Given the description of an element on the screen output the (x, y) to click on. 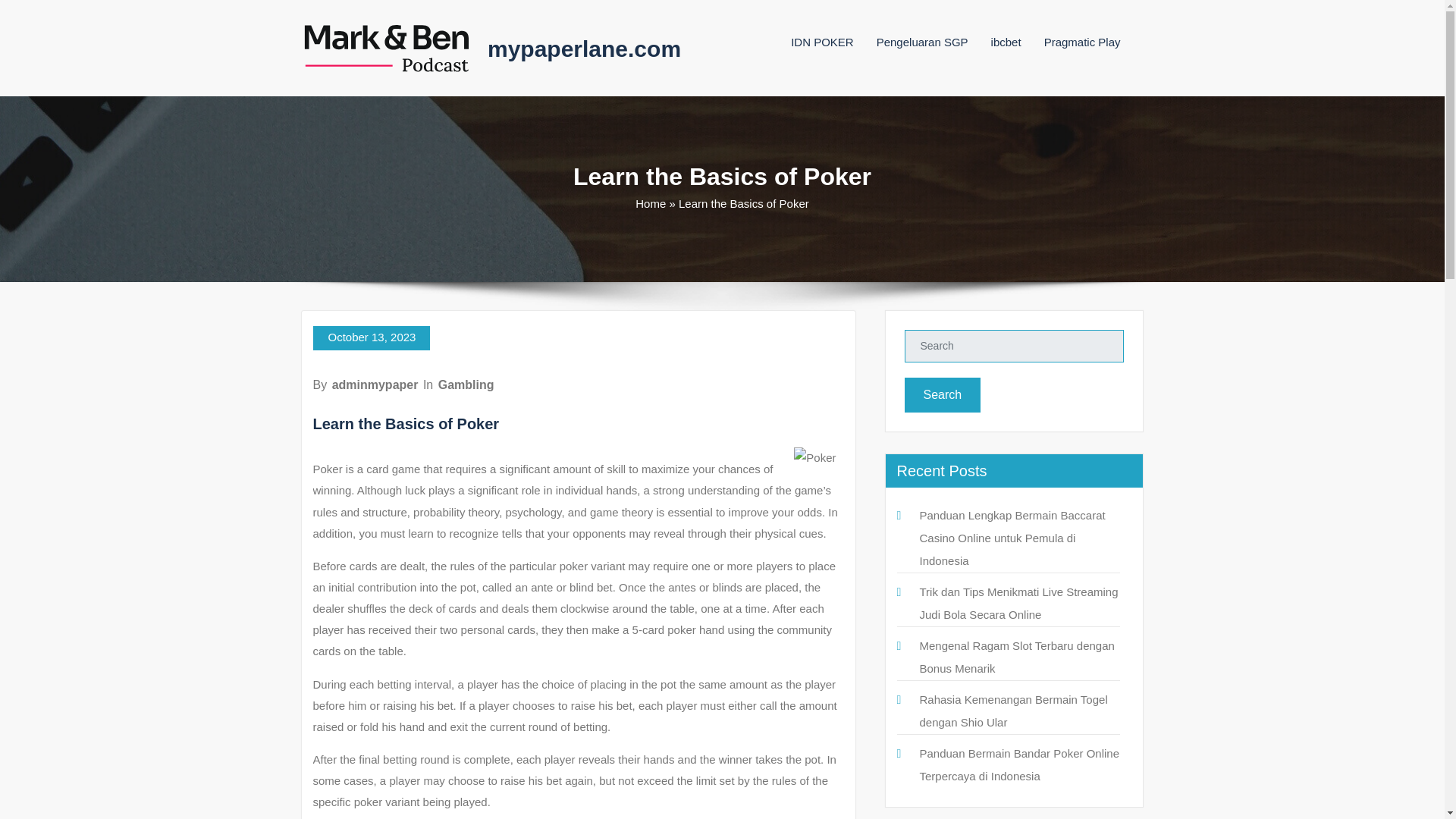
mypaperlane.com (584, 48)
Pengeluaran SGP (922, 41)
Rahasia Kemenangan Bermain Togel dengan Shio Ular (1012, 710)
Home (649, 203)
IDN POKER (821, 41)
Mengenal Ragam Slot Terbaru dengan Bonus Menarik (1015, 656)
October 13, 2023 (371, 337)
Gambling (466, 384)
adminmypaper (375, 384)
